Given the description of an element on the screen output the (x, y) to click on. 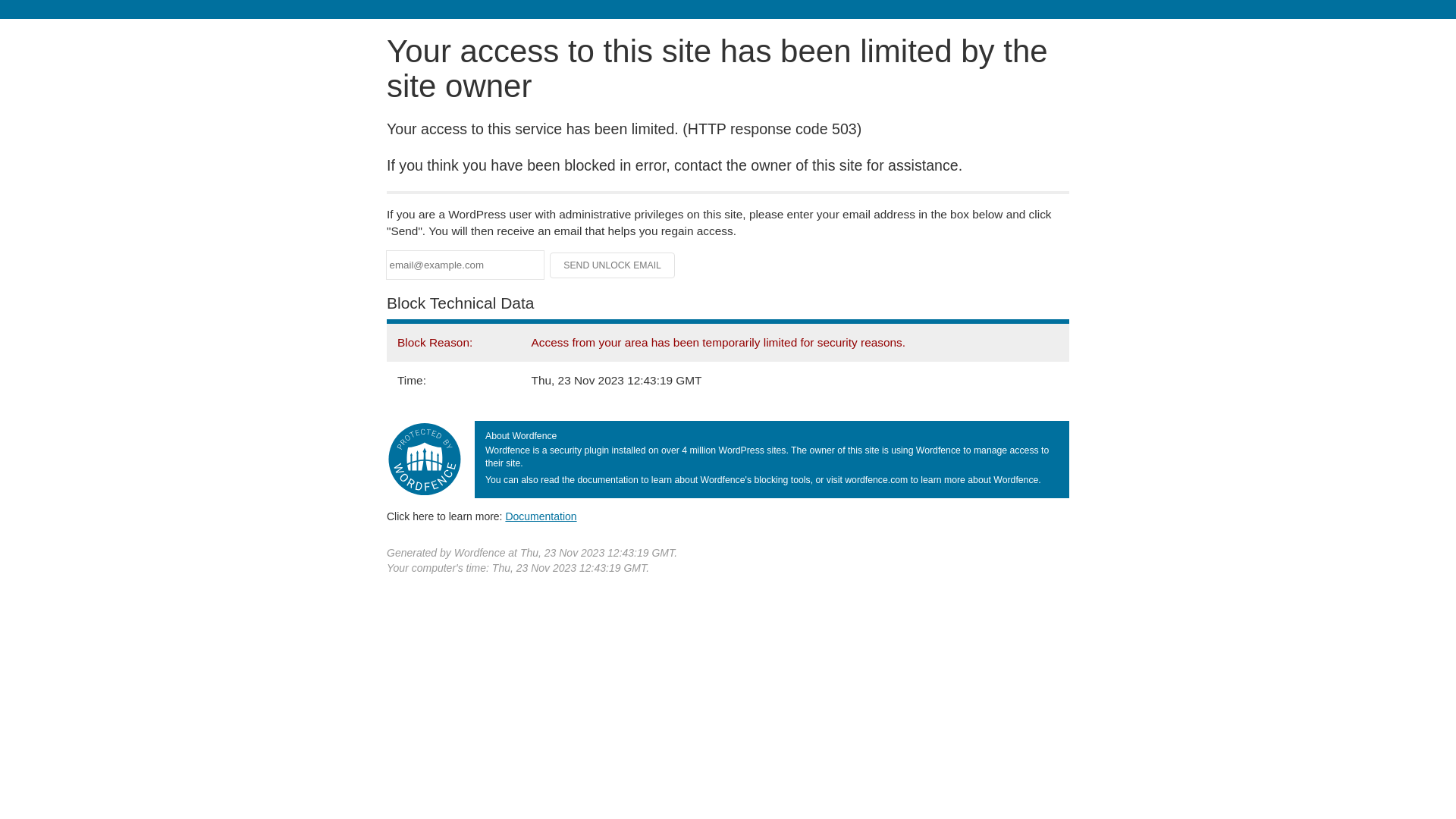
Documentation Element type: text (540, 516)
Send Unlock Email Element type: text (612, 265)
